Given the description of an element on the screen output the (x, y) to click on. 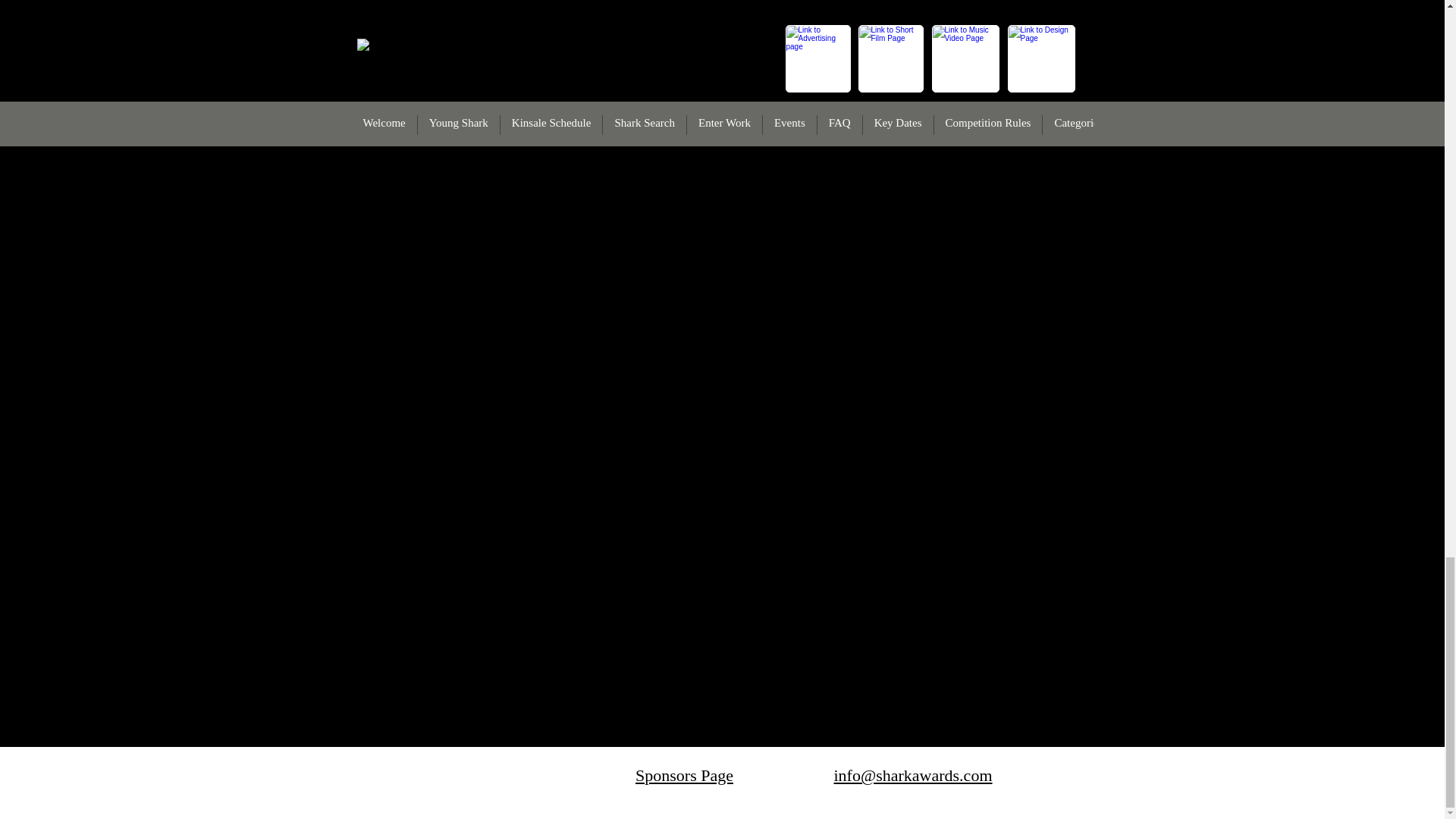
Sponsors Page (683, 774)
